Given the description of an element on the screen output the (x, y) to click on. 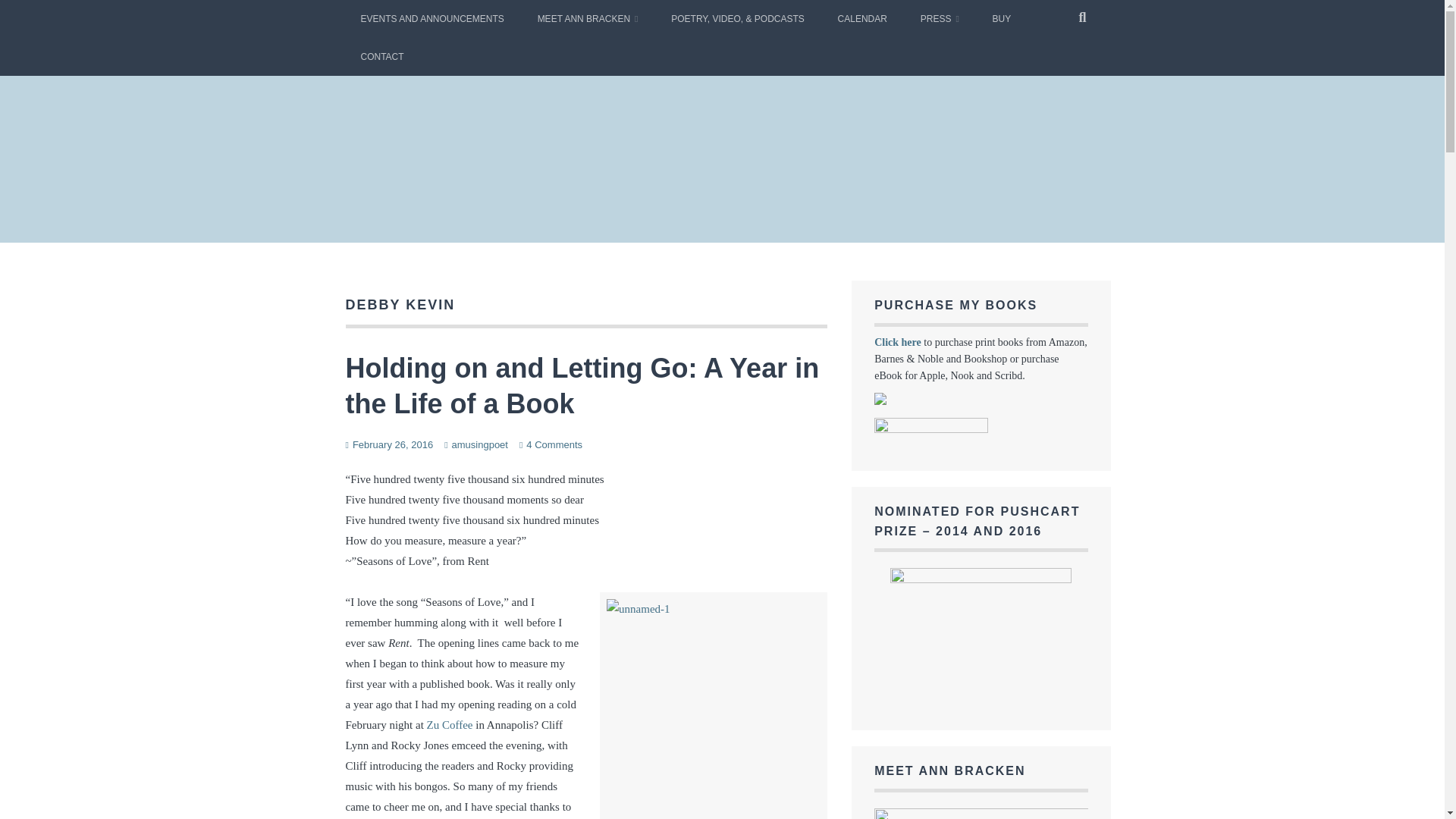
EVENTS AND ANNOUNCEMENTS (432, 18)
CONTACT (382, 56)
MEET ANN BRACKEN (587, 18)
4 Comments (553, 444)
PRESS (939, 18)
BUY (1001, 18)
February 26, 2016 (392, 444)
amusingpoet (479, 444)
CALENDAR (862, 18)
Zu Coffee (451, 725)
